Given the description of an element on the screen output the (x, y) to click on. 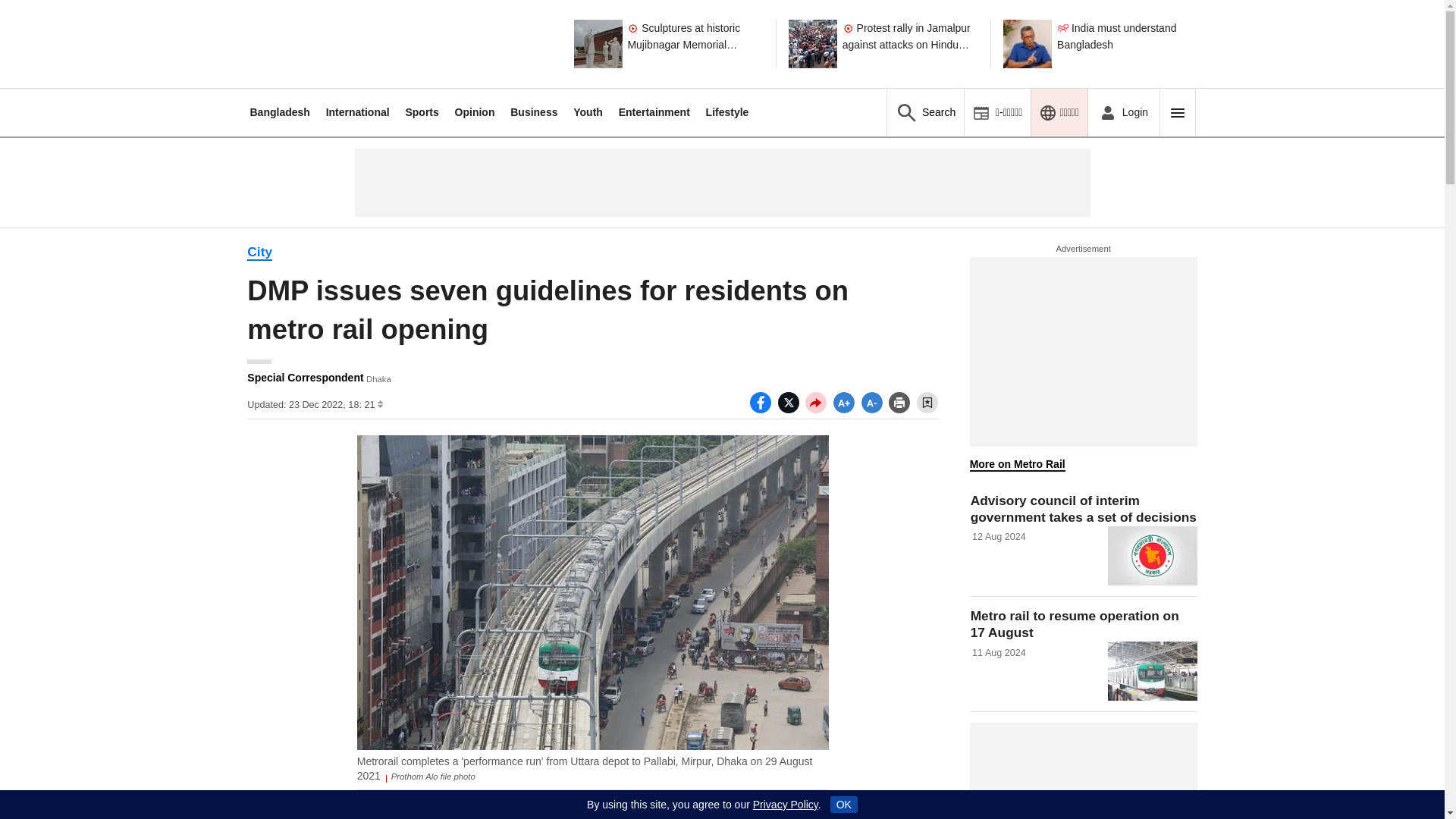
International (358, 111)
Lifestyle (727, 111)
Opinion (474, 111)
India must understand Bangladesh (1126, 43)
Login (1122, 112)
OK (843, 804)
Business (534, 111)
Bangladesh (278, 111)
Sports (421, 111)
Youth (587, 111)
